Given the description of an element on the screen output the (x, y) to click on. 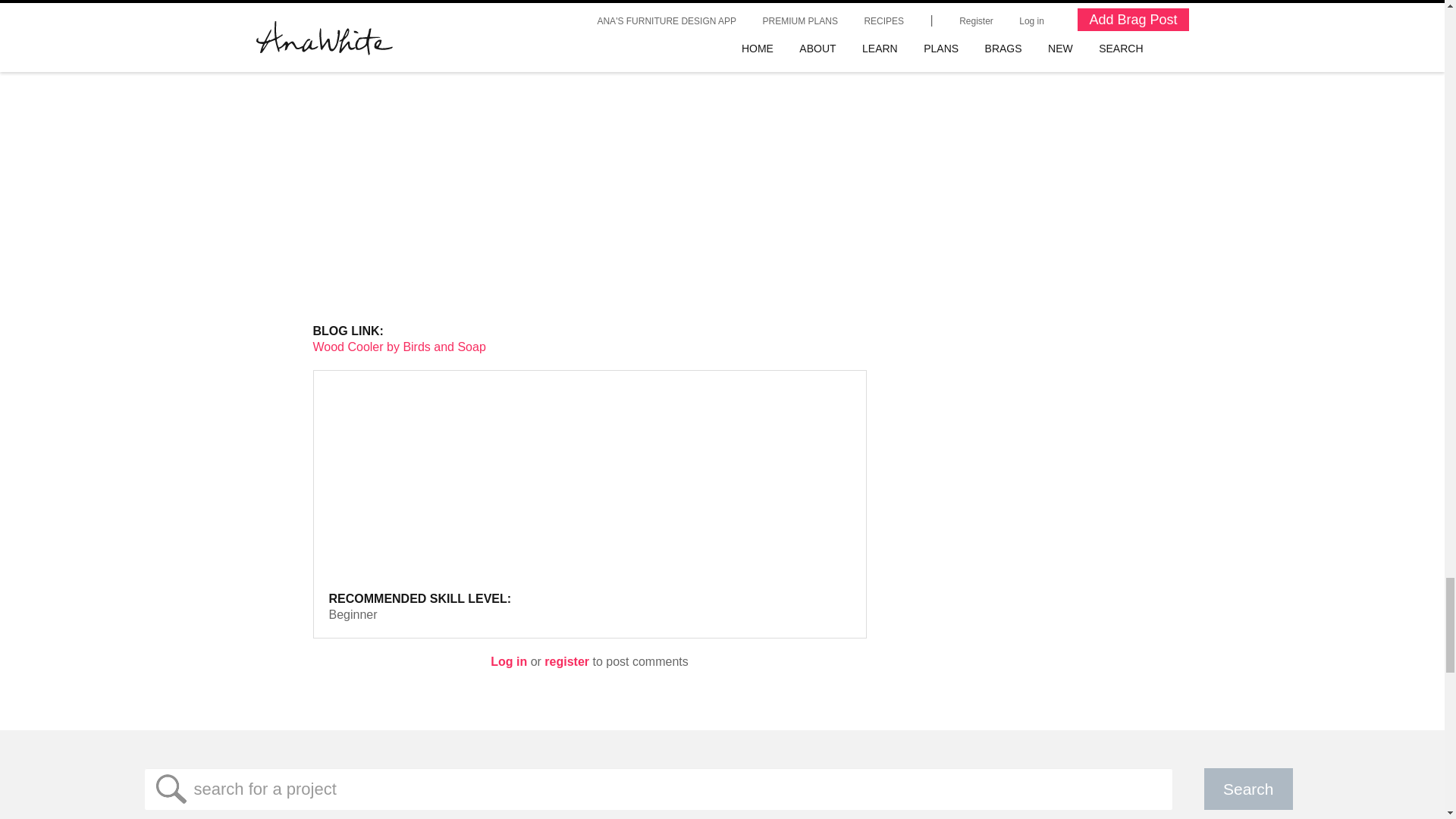
register (566, 661)
Log in (508, 661)
Wood Cooler by Birds and Soap (398, 346)
